Given the description of an element on the screen output the (x, y) to click on. 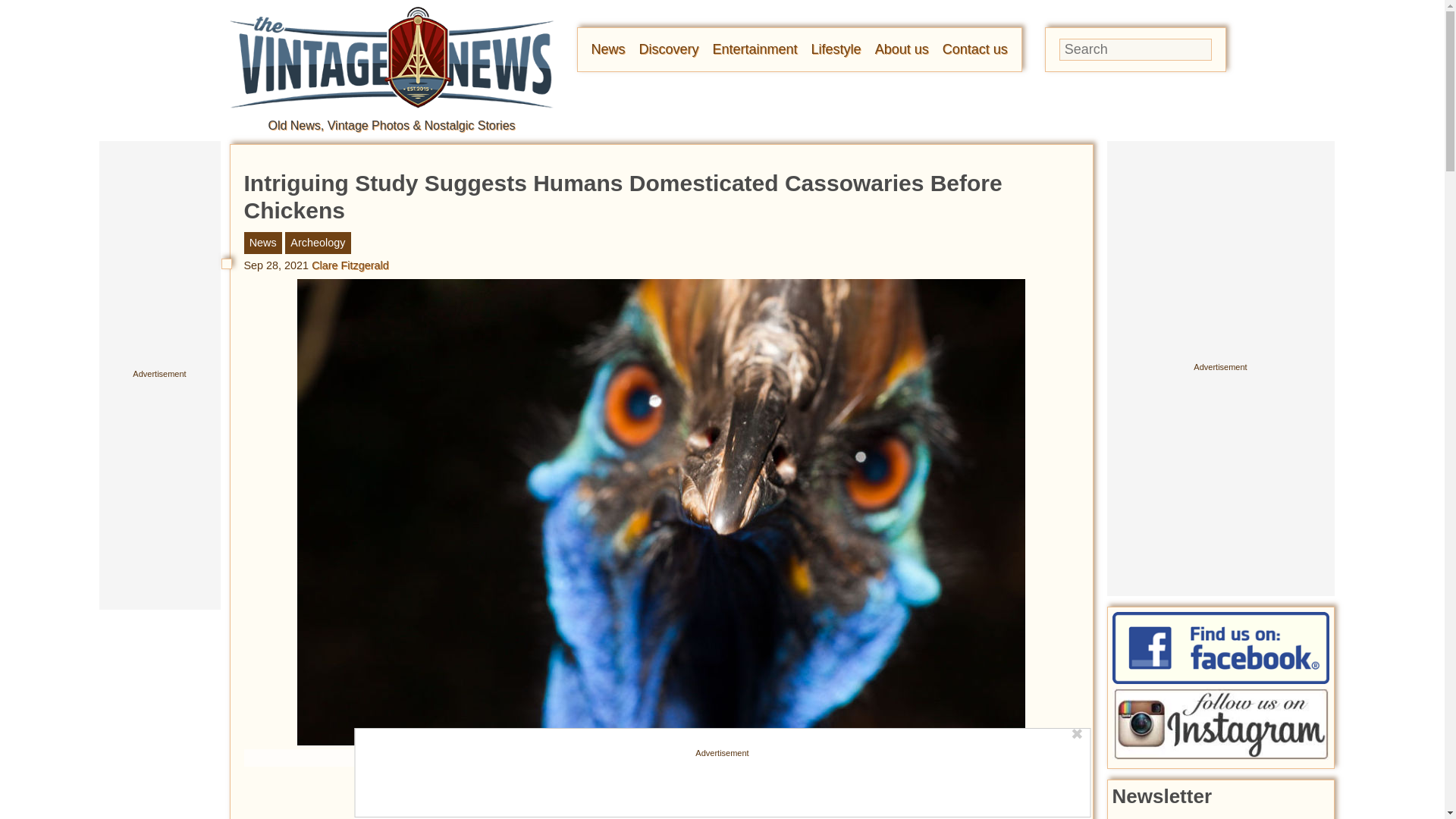
News (608, 48)
Contact us (974, 48)
Entertainment (755, 48)
About us (901, 48)
Lifestyle (835, 48)
Discovery (668, 48)
